Given the description of an element on the screen output the (x, y) to click on. 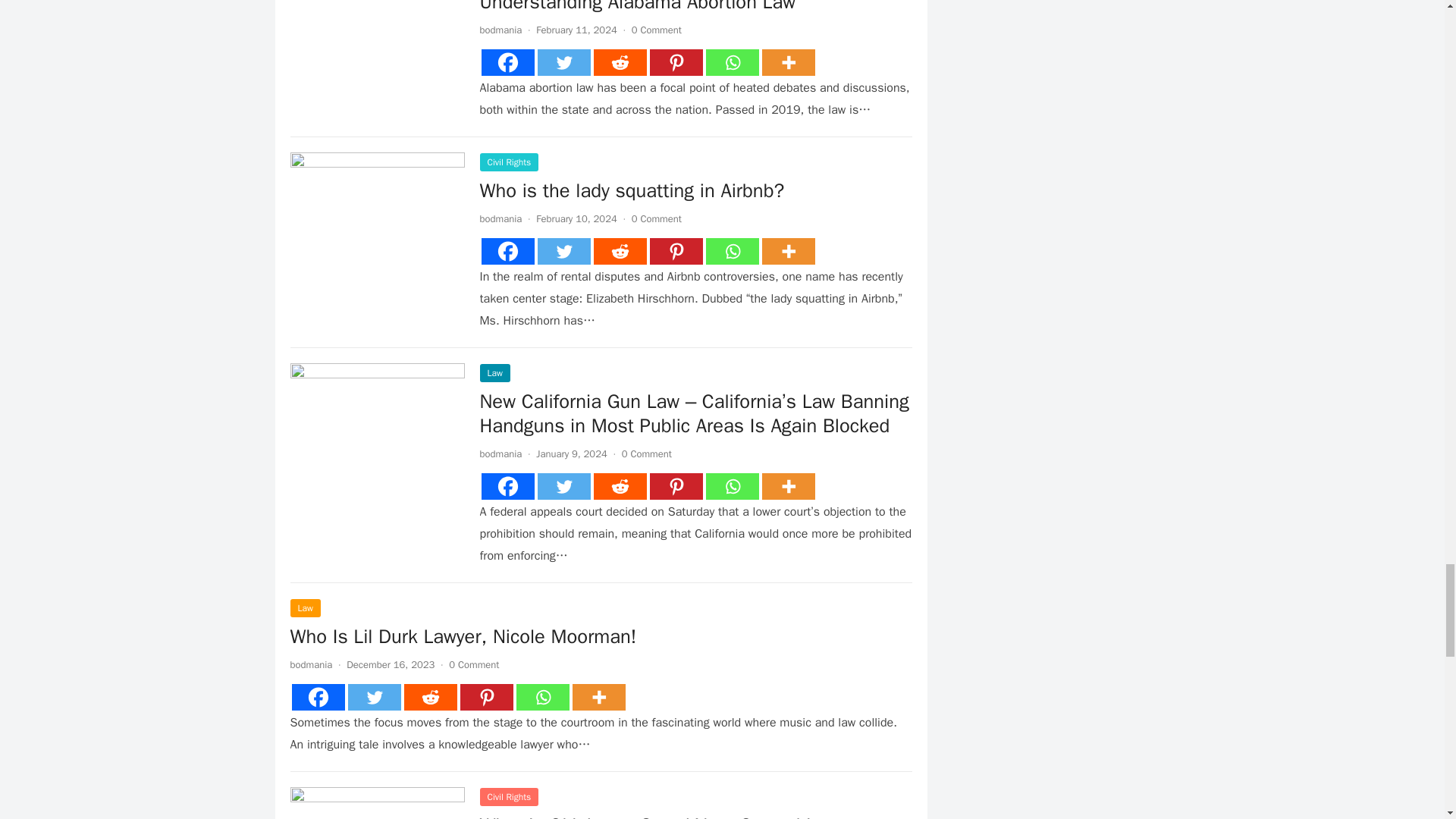
Pinterest (675, 62)
Twitter (563, 62)
Posts by bodmania (500, 29)
Whatsapp (731, 62)
Facebook (507, 62)
Reddit (619, 62)
